Given the description of an element on the screen output the (x, y) to click on. 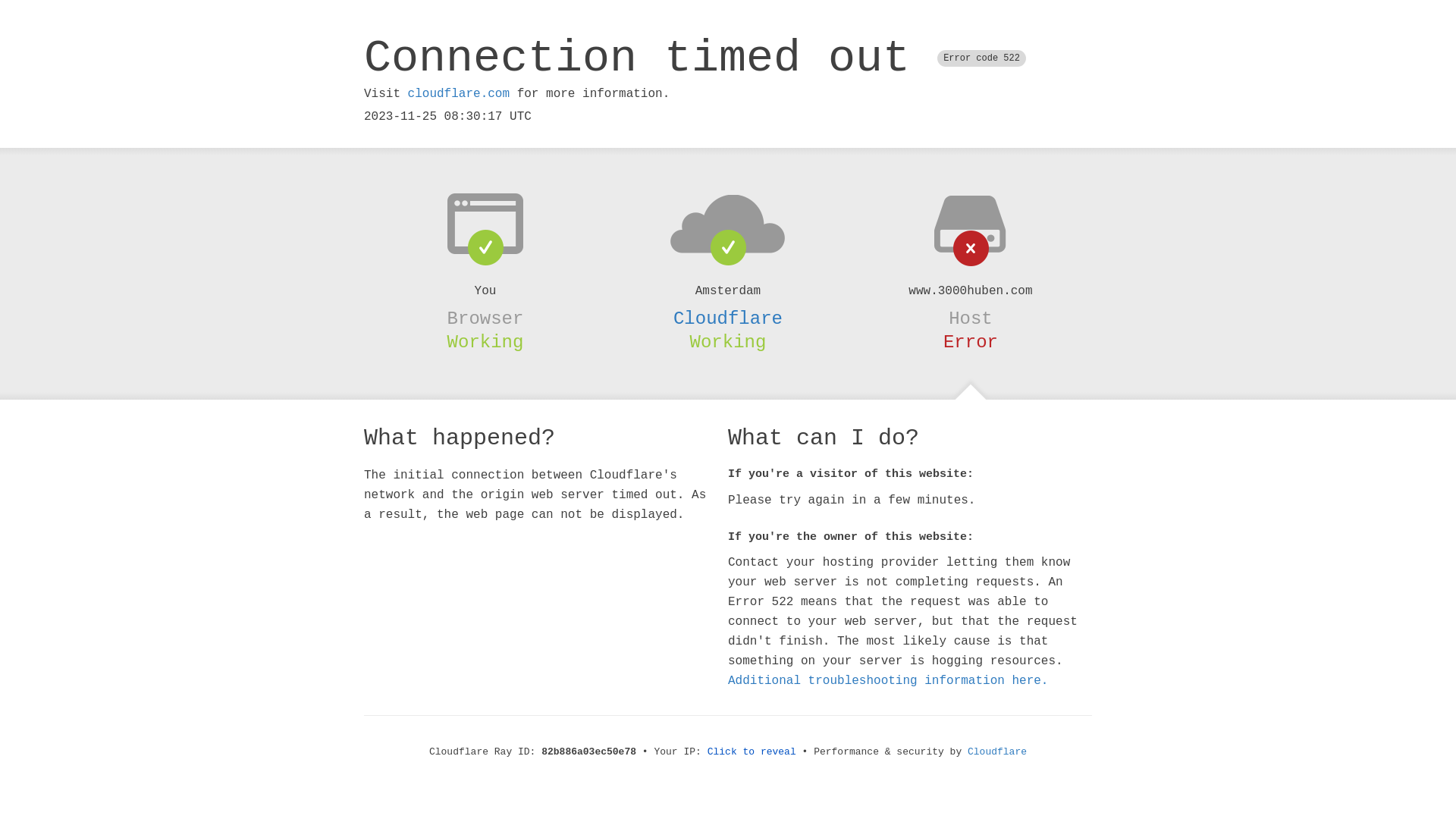
Additional troubleshooting information here. Element type: text (888, 680)
cloudflare.com Element type: text (458, 93)
Cloudflare Element type: text (996, 751)
Cloudflare Element type: text (727, 318)
Click to reveal Element type: text (751, 751)
